Given the description of an element on the screen output the (x, y) to click on. 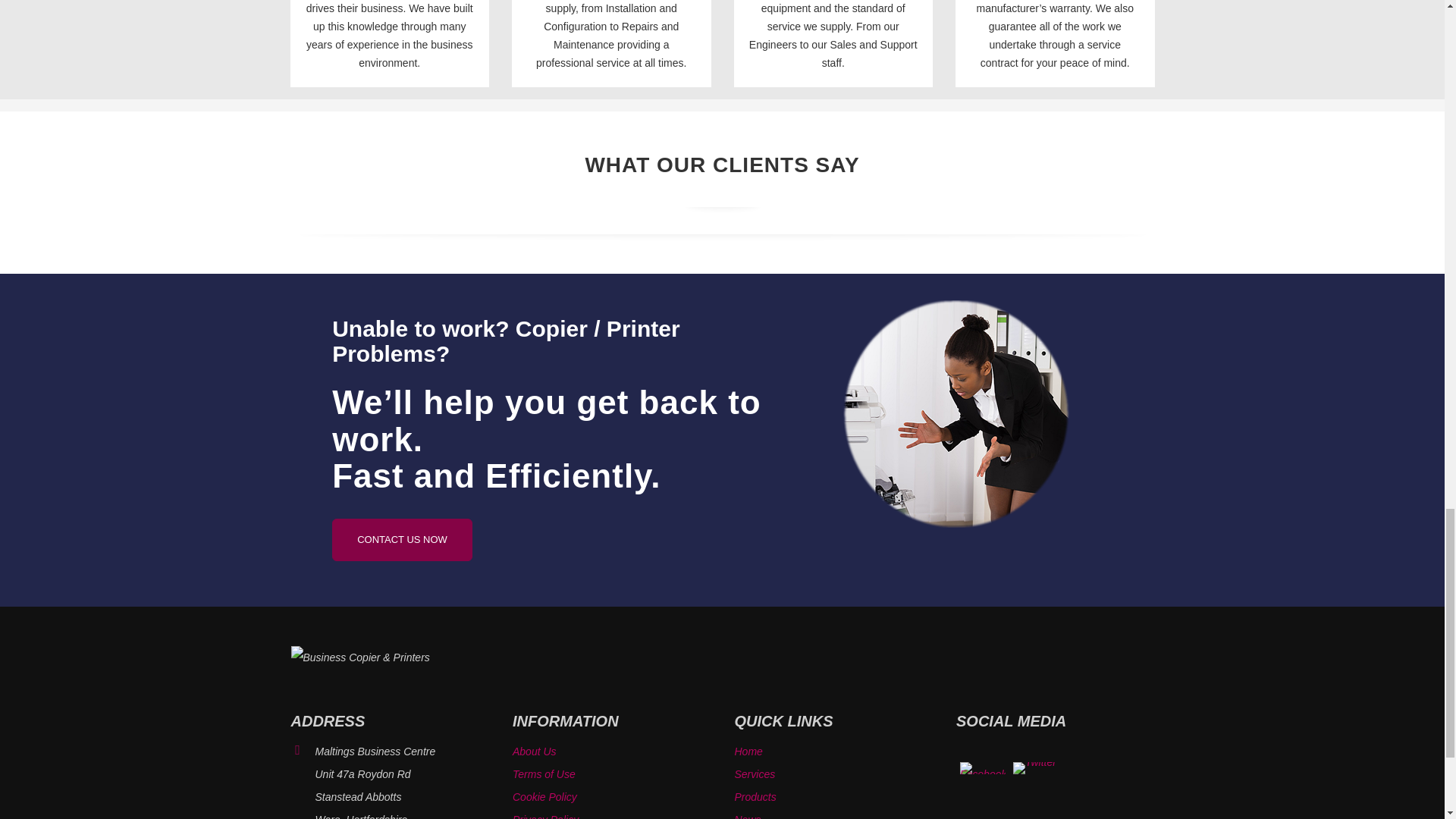
Twitter (1035, 767)
call-to-action (956, 413)
Facebook (982, 767)
